Given the description of an element on the screen output the (x, y) to click on. 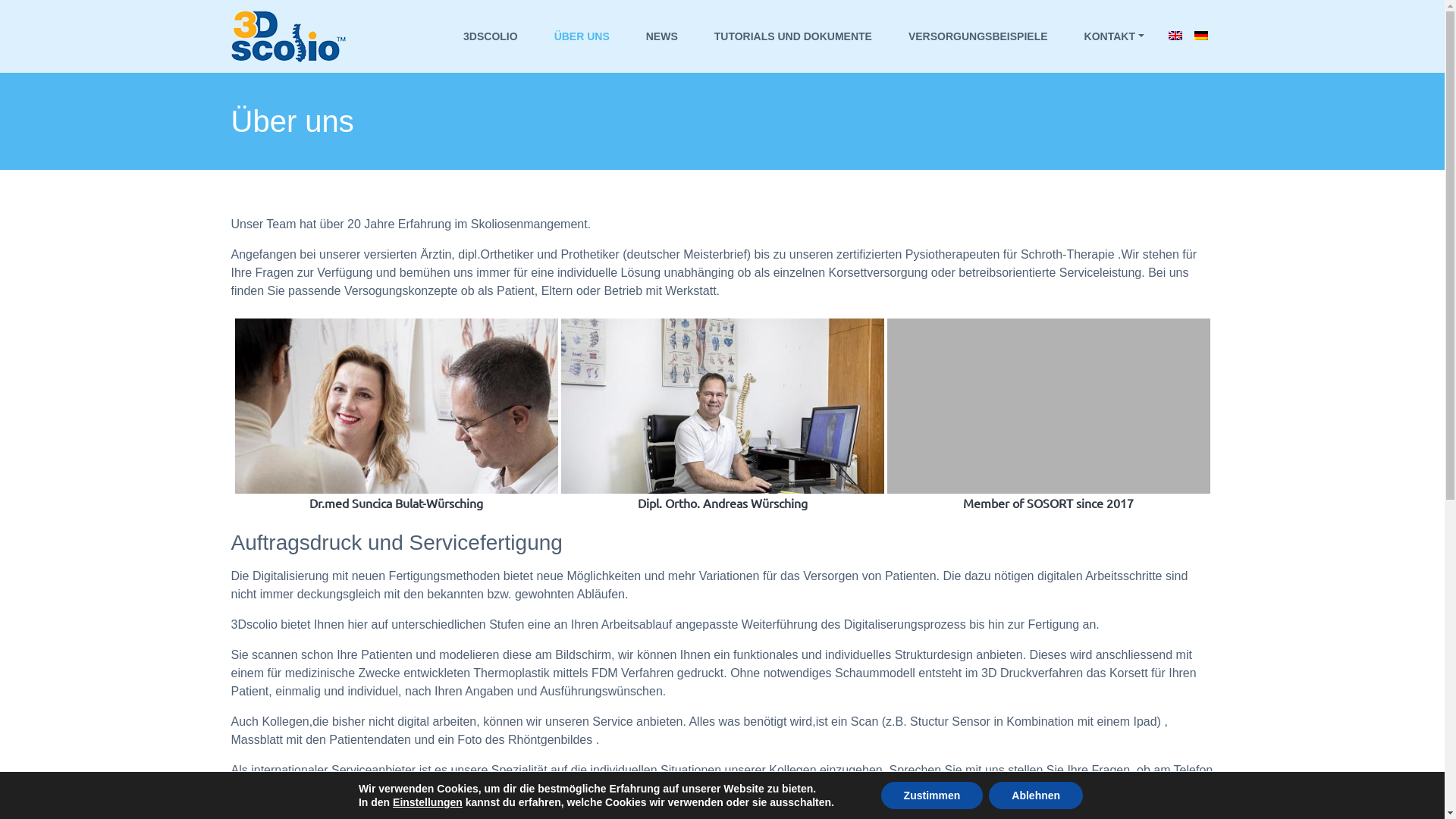
TUTORIALS UND DOKUMENTE Element type: text (793, 36)
Member of SOSORT since 2017  Element type: hover (994, 406)
VERSORGUNGSBEISPIELE Element type: text (978, 36)
NEWS Element type: text (661, 36)
KONTAKT Element type: text (1114, 36)
Ablehnen Element type: text (1035, 795)
Member of SOSORT since 2017 Element type: text (1048, 414)
Zustimmen Element type: text (932, 795)
3DSCOLIO Element type: text (490, 36)
